Given the description of an element on the screen output the (x, y) to click on. 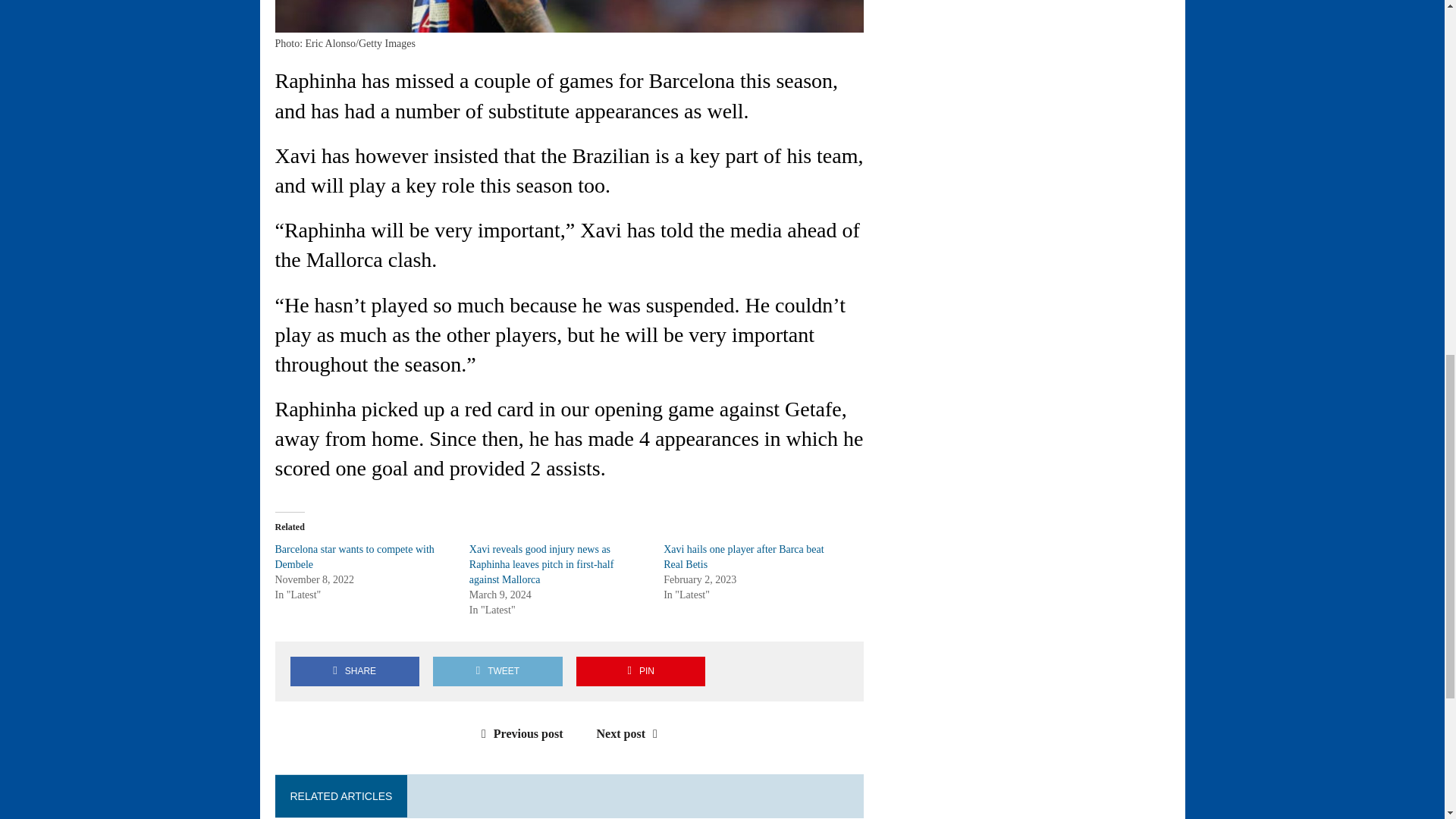
SHARE (354, 671)
PIN (640, 671)
Next post (630, 733)
Previous post (518, 733)
Barcelona star wants to compete with Dembele (354, 556)
TWEET (497, 671)
Barcelona star wants to compete with Dembele (354, 556)
Xavi hails one player after Barca beat Real Betis (743, 556)
